Given the description of an element on the screen output the (x, y) to click on. 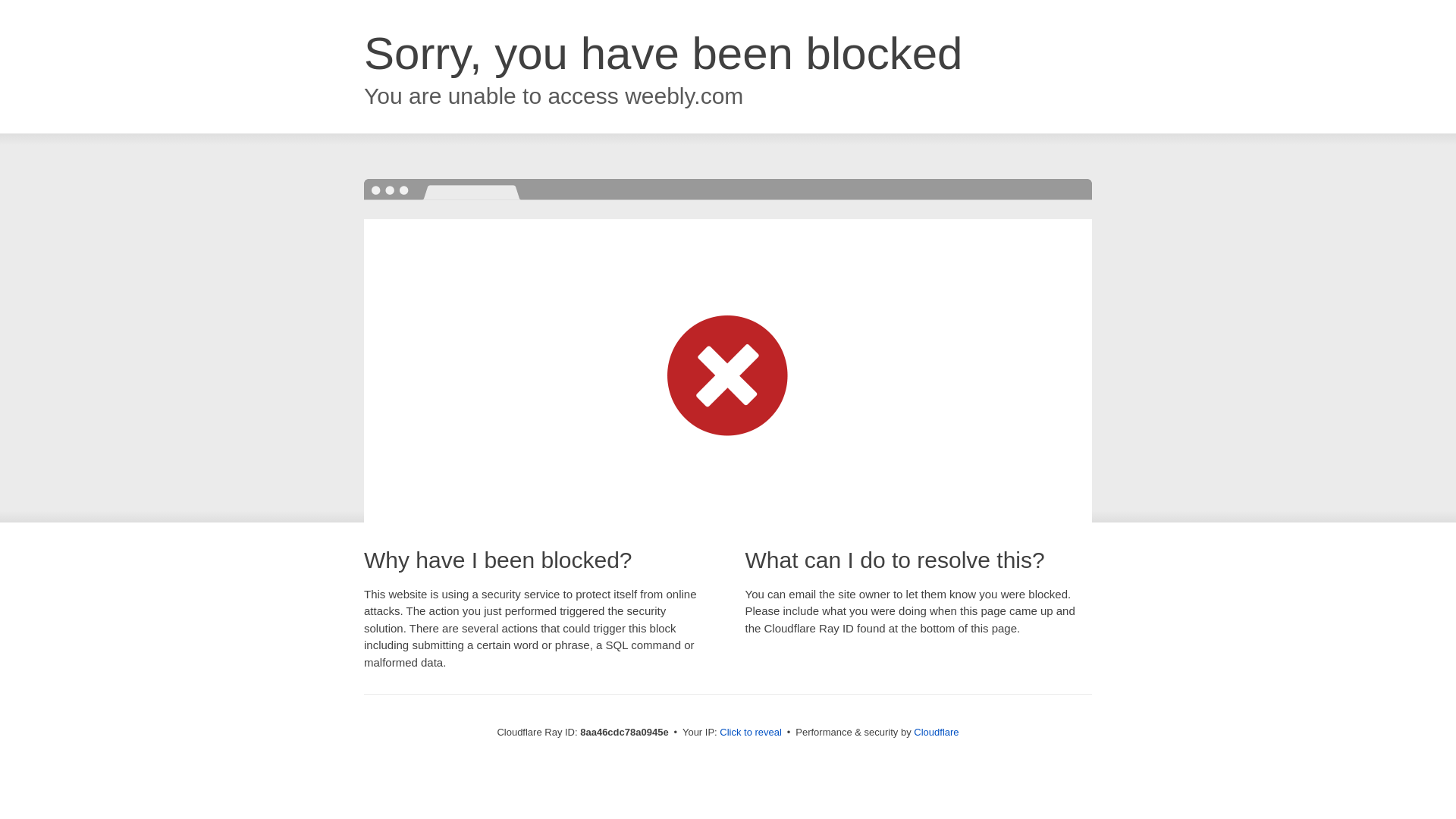
Cloudflare (936, 731)
Click to reveal (750, 732)
